Given the description of an element on the screen output the (x, y) to click on. 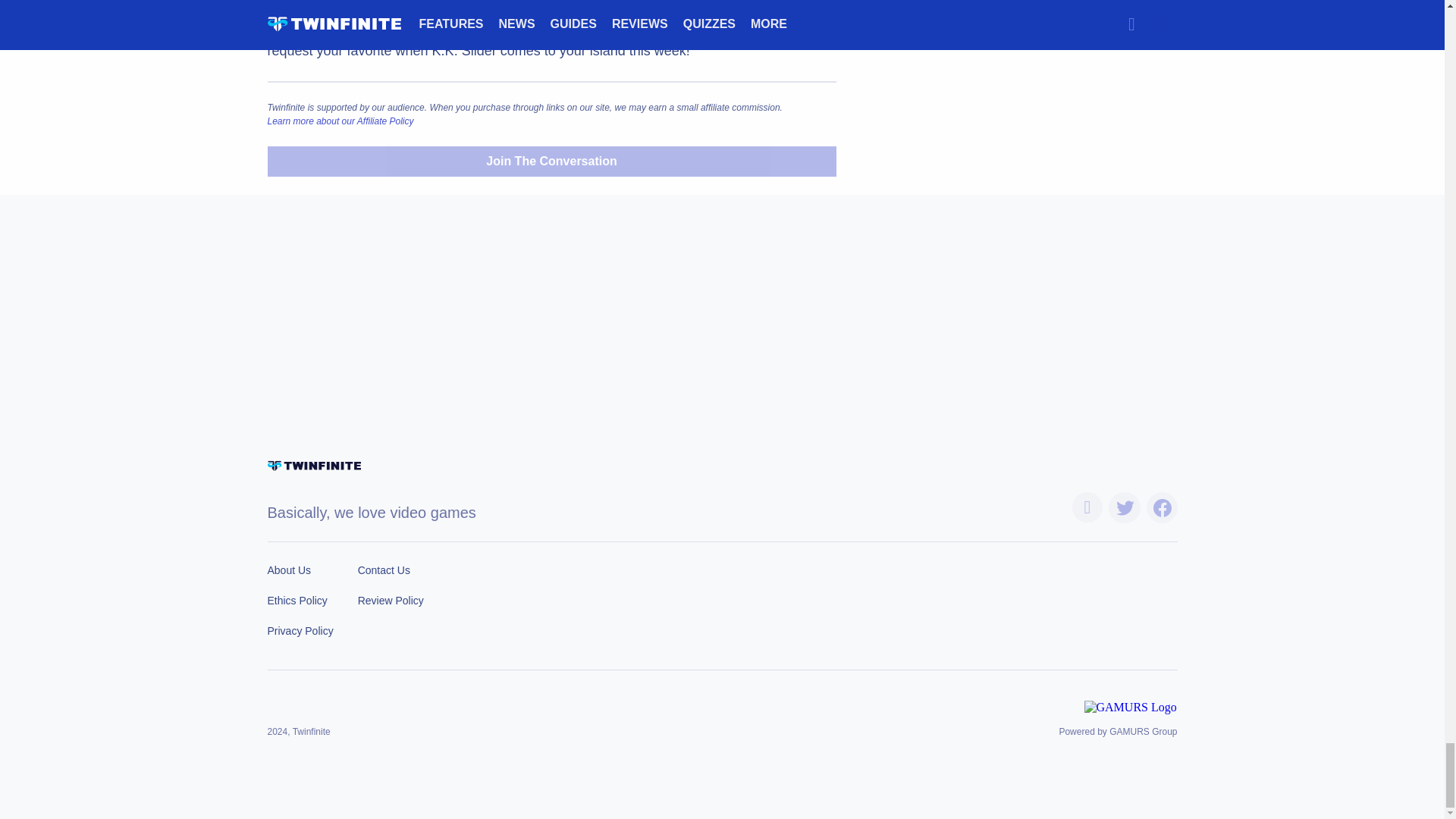
Join The Conversation (550, 161)
